Given the description of an element on the screen output the (x, y) to click on. 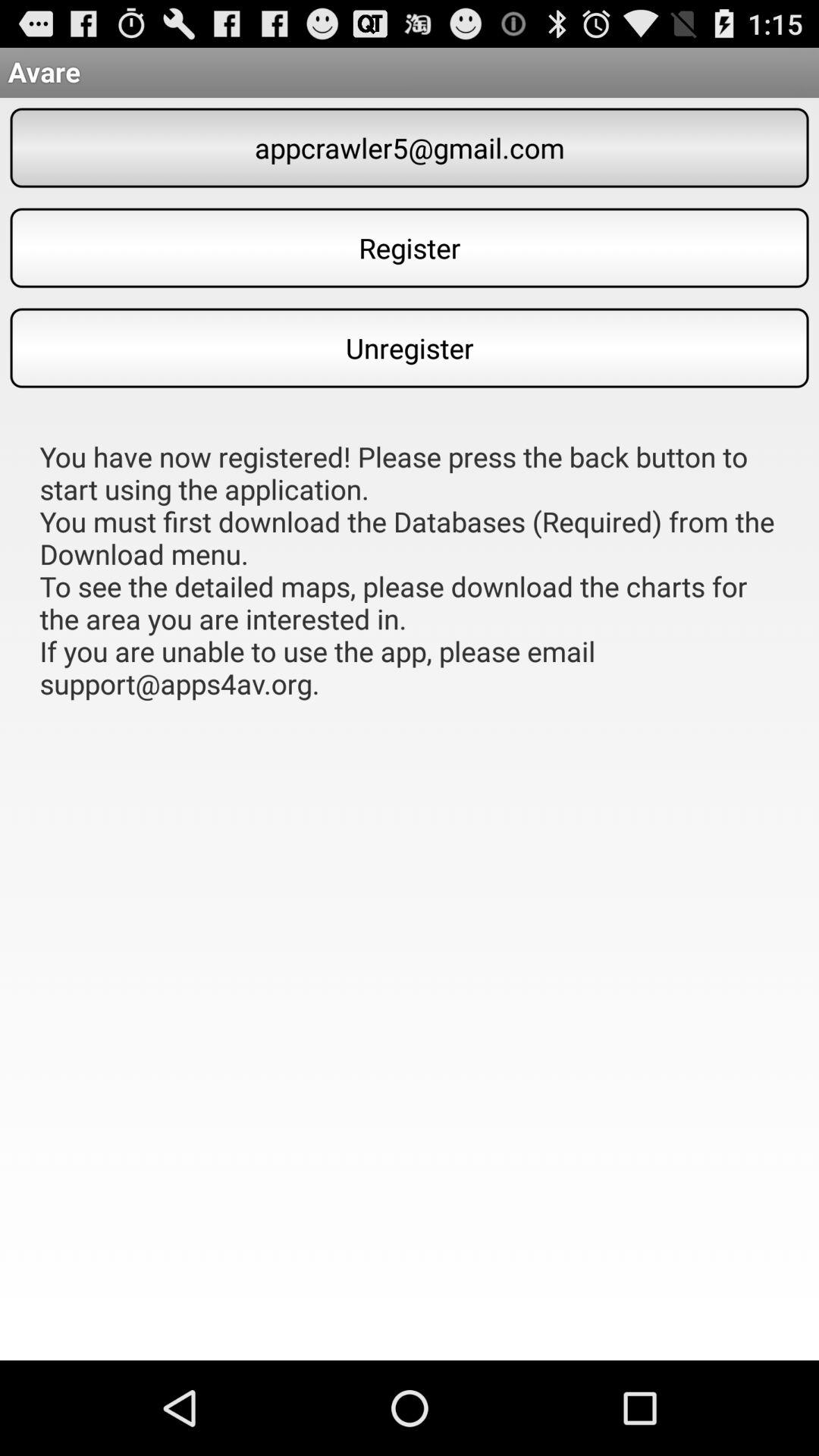
open appcrawler5@gmail.com (409, 147)
